Given the description of an element on the screen output the (x, y) to click on. 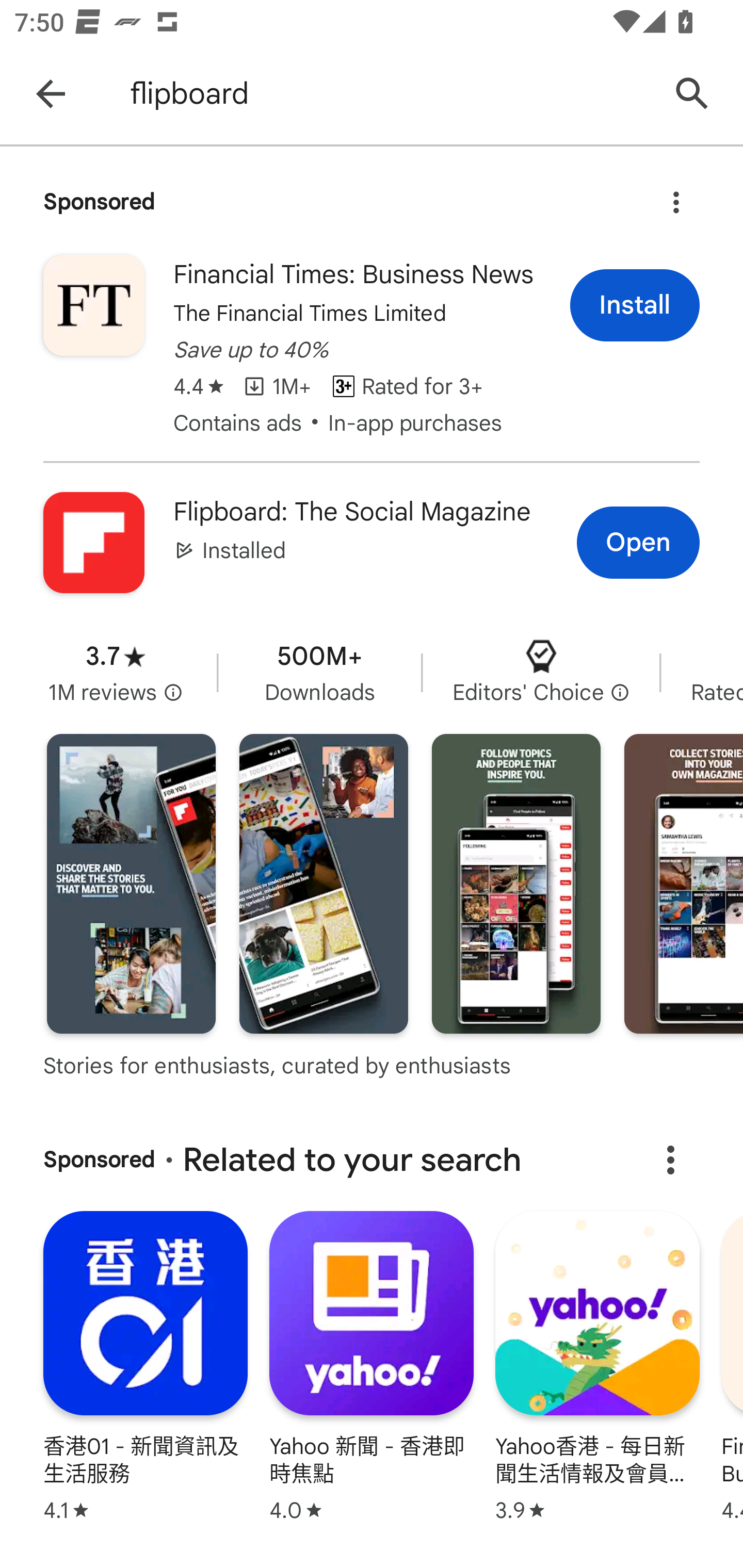
flipboard (389, 93)
Navigate up (50, 93)
Search Google Play (692, 93)
About this ad (676, 196)
Install (634, 304)
Open (637, 542)
Average rating 3.7 stars in 1 million reviews (115, 672)
Downloaded 500 million plus times (319, 672)
Editors' Choice (540, 672)
Screenshot "1" of "5" (130, 883)
Screenshot "2" of "5" (323, 883)
Screenshot "3" of "5" (515, 883)
About this ad (670, 1159)
香港01 - 新聞資訊及生活服務
Star rating: 4.1
 (145, 1365)
Yahoo 新聞 - 香港即時焦點
Star rating: 4.0
 (371, 1365)
Yahoo香港 - 每日新聞生活情報及會員獎賞
Star rating: 3.9
 (597, 1365)
